Given the description of an element on the screen output the (x, y) to click on. 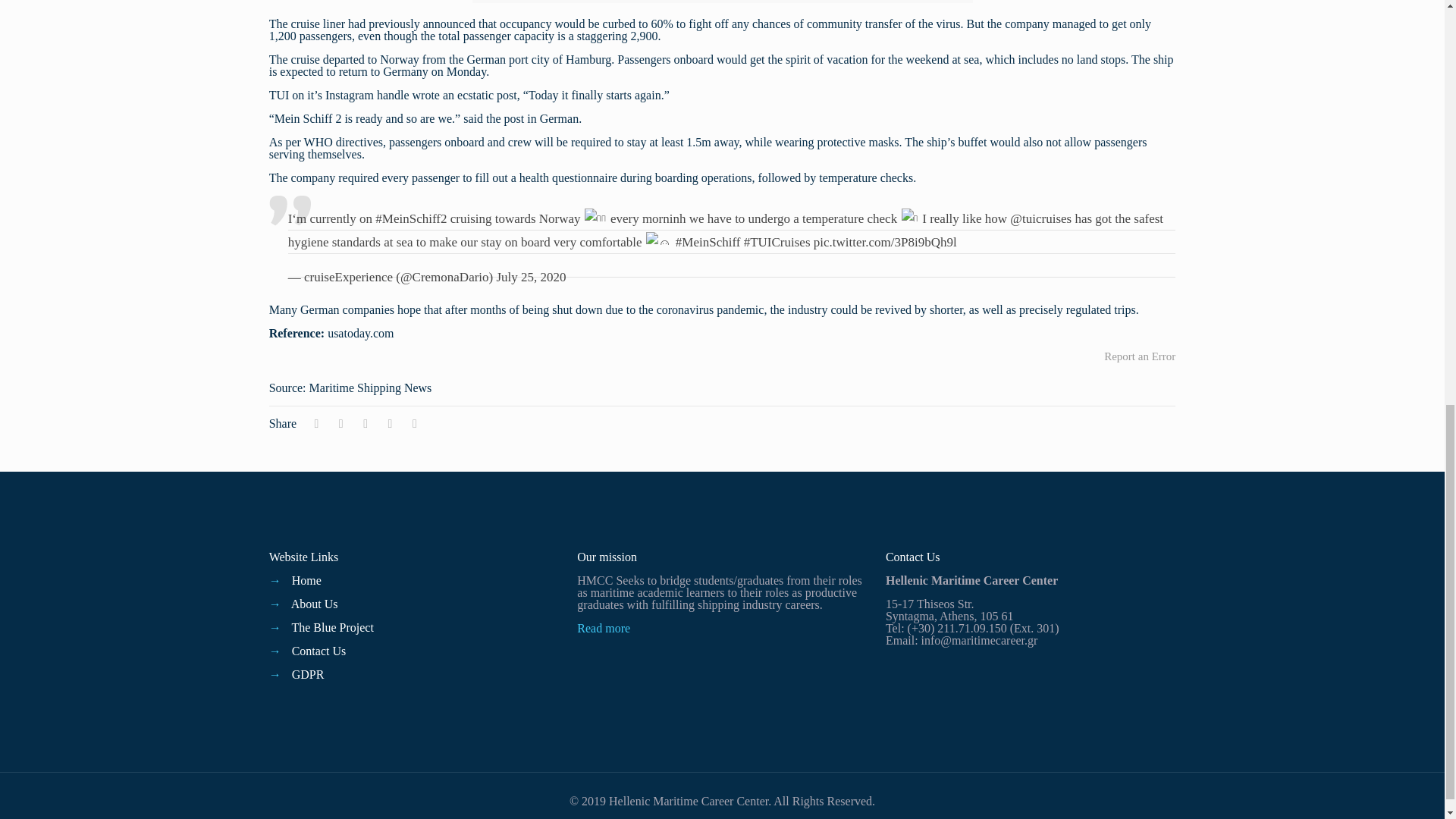
GDPR (308, 674)
About Us (314, 603)
July 25, 2020 (531, 277)
The Blue Project (331, 626)
Contact Us (319, 650)
Home (306, 580)
Error (1138, 356)
Report an Error (1138, 356)
